Given the description of an element on the screen output the (x, y) to click on. 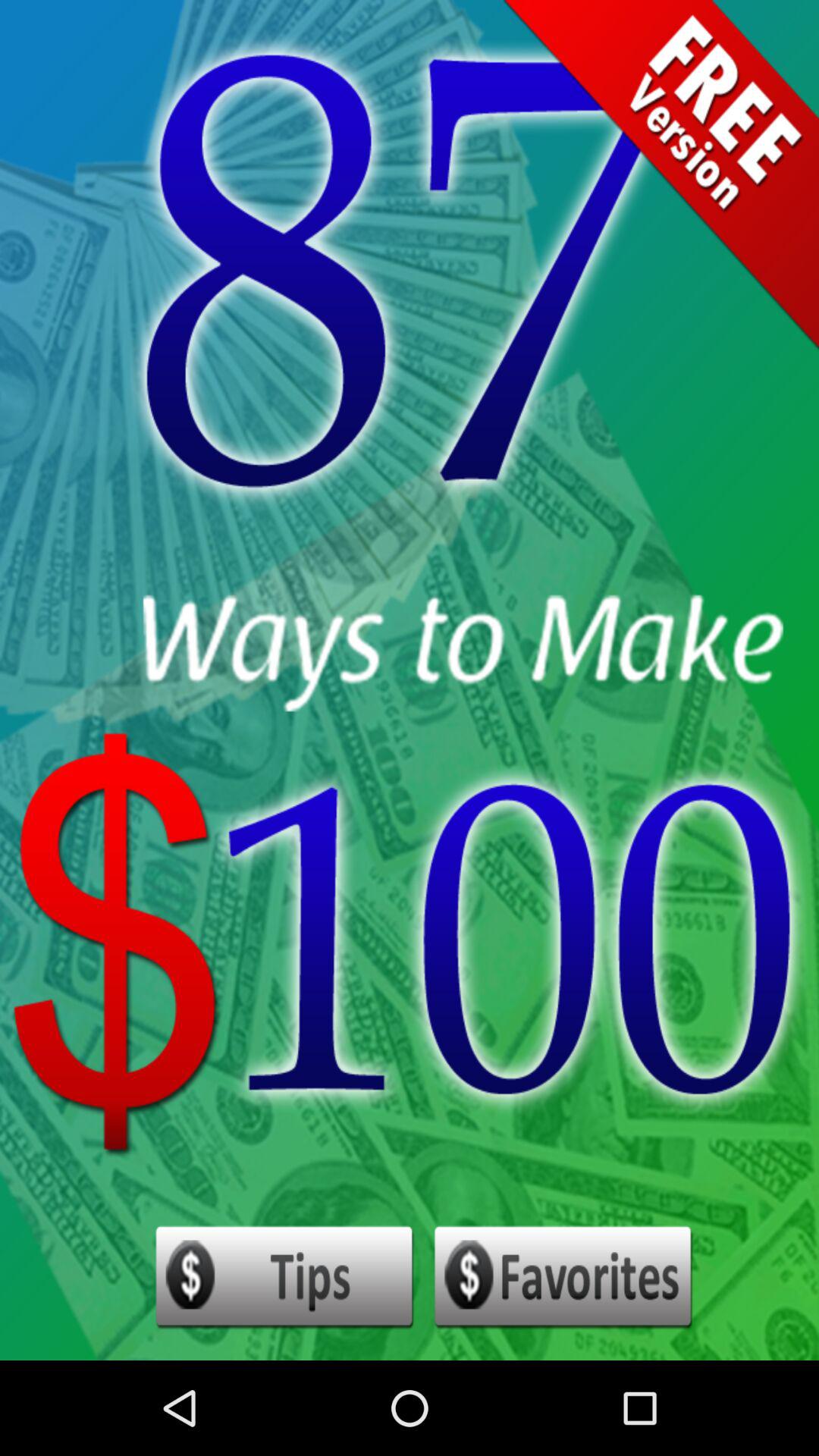
sympol button (563, 1277)
